Given the description of an element on the screen output the (x, y) to click on. 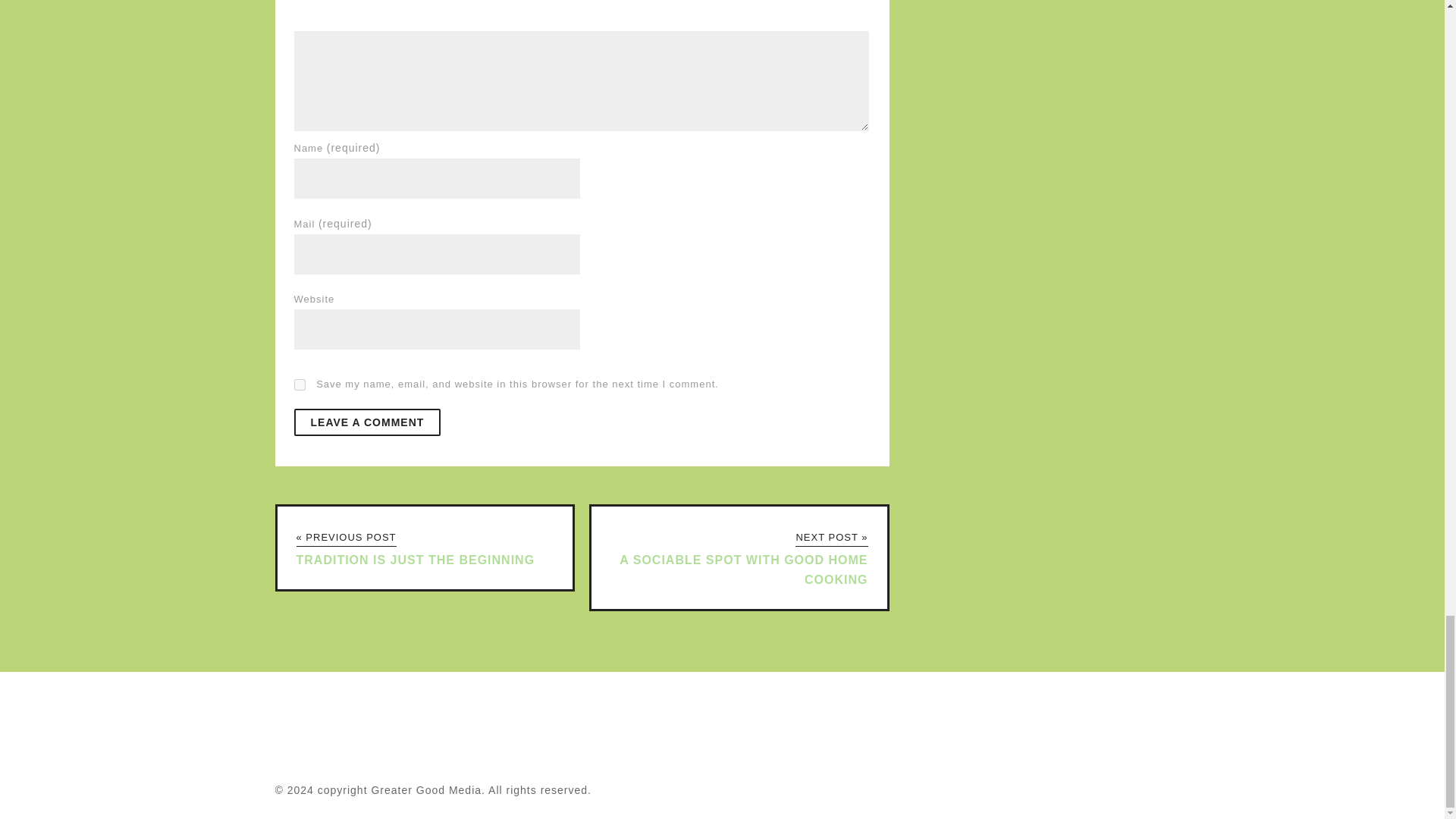
Leave a Comment (367, 421)
yes (299, 384)
